Given the description of an element on the screen output the (x, y) to click on. 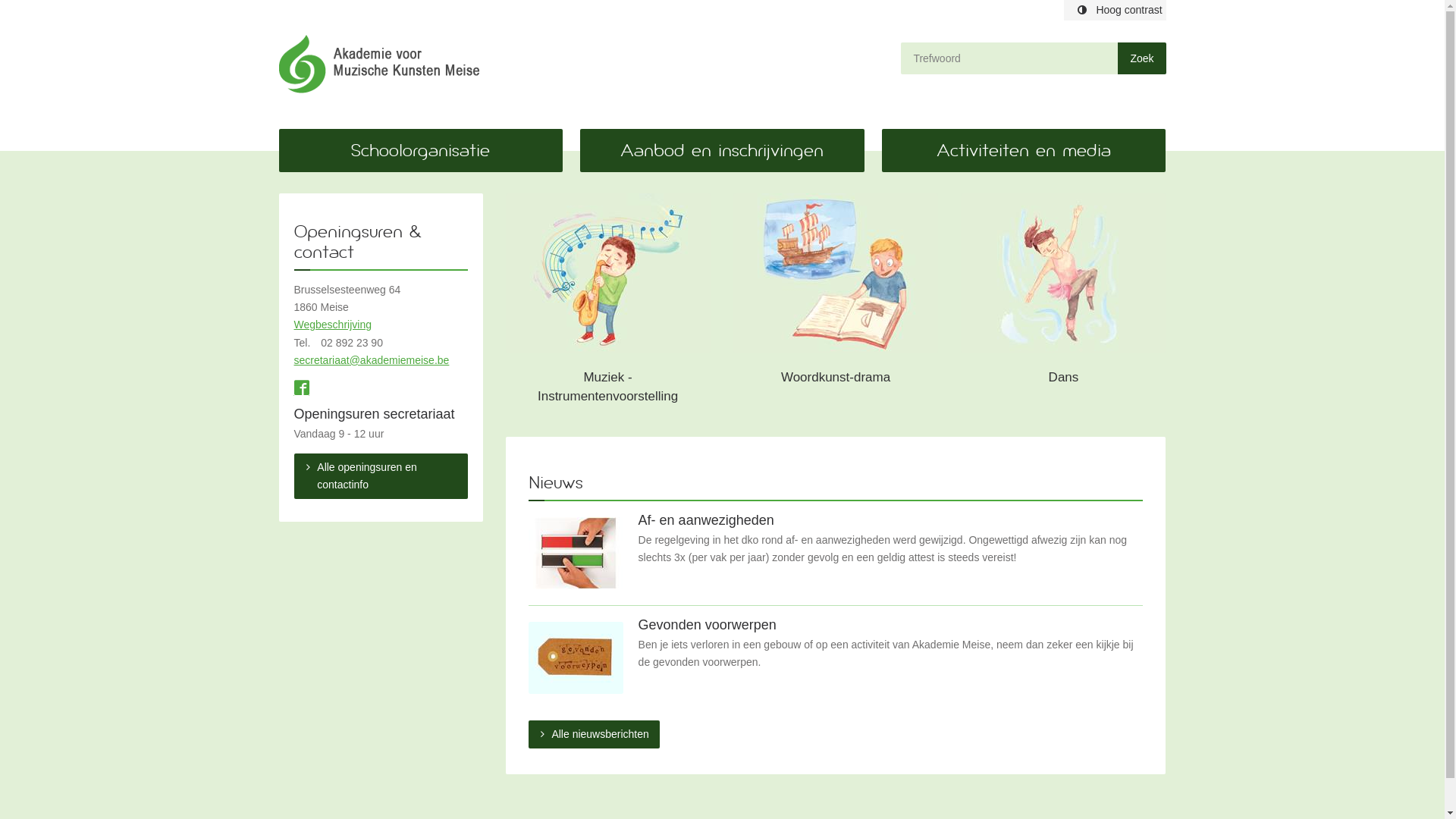
Dans Element type: text (1062, 303)
Hoog contrast Element type: text (1114, 10)
Facebook Element type: text (301, 389)
Alle openingsuren en contactinfo Element type: text (380, 475)
Zoeken Element type: hover (1141, 58)
Zoek Element type: text (1141, 58)
Activiteiten en media Element type: text (1023, 150)
Aanbod en inschrijvingen Element type: text (721, 150)
trefwoord Element type: hover (1008, 58)
secretariaat@akademiemeise.be Element type: text (371, 360)
Alle nieuwsberichten Element type: text (593, 734)
Wegbeschrijving Element type: text (332, 324)
Muziek - Instrumentenvoorstelling Element type: text (607, 303)
Schoolorganisatie Element type: text (420, 150)
Woordkunst-drama Element type: text (835, 303)
